Given the description of an element on the screen output the (x, y) to click on. 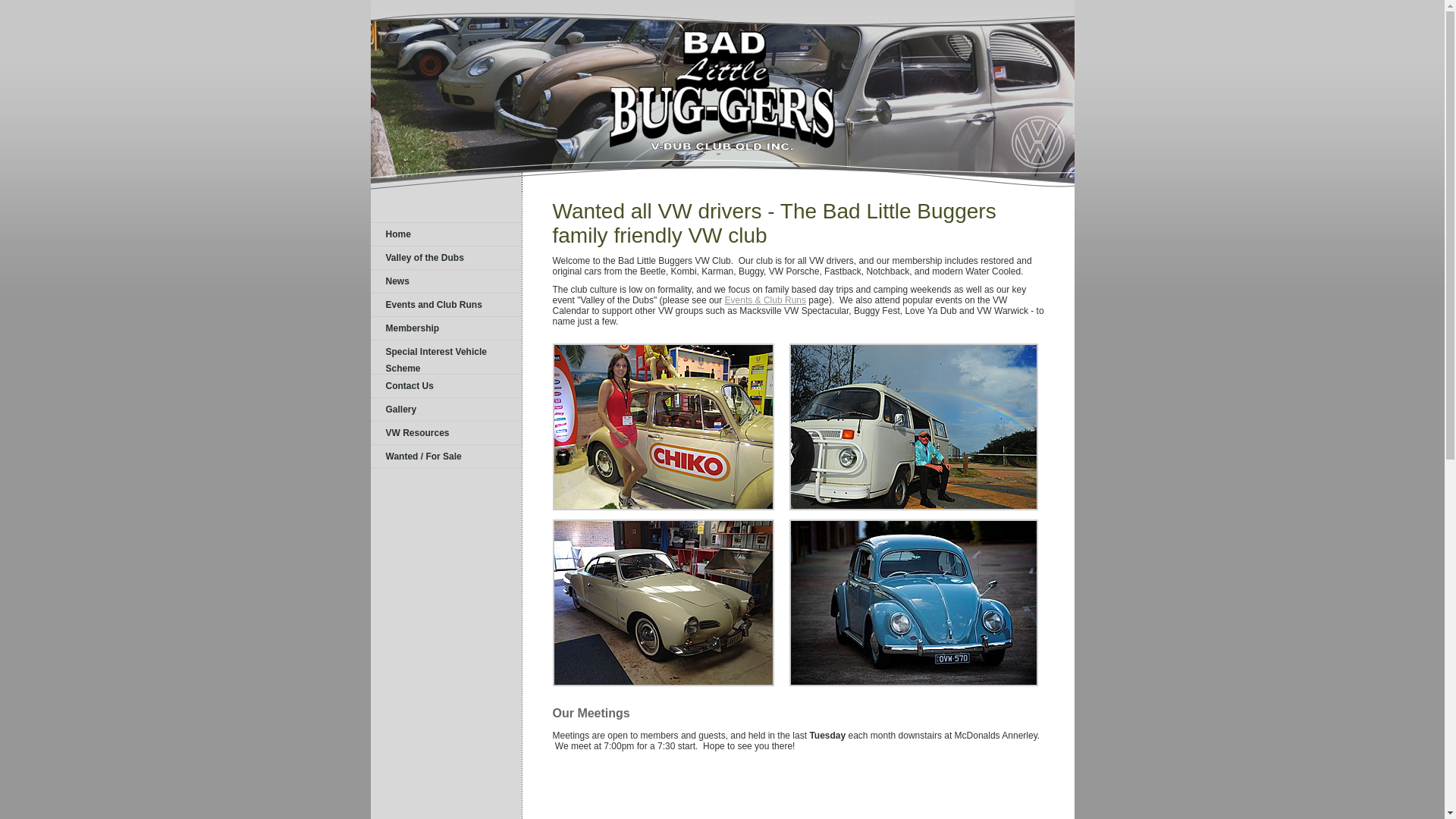
Wanted / For Sale Element type: text (423, 456)
Valley of the Dubs Element type: text (424, 257)
News Element type: text (396, 281)
Events & Club Runs Element type: text (765, 299)
Home Element type: text (397, 234)
VW Resources Element type: text (416, 432)
Special Interest Vehicle Scheme Element type: text (435, 359)
Events and Club Runs Element type: text (433, 304)
Membership Element type: text (412, 328)
Contact Us Element type: text (409, 385)
Gallery Element type: text (400, 409)
